Given the description of an element on the screen output the (x, y) to click on. 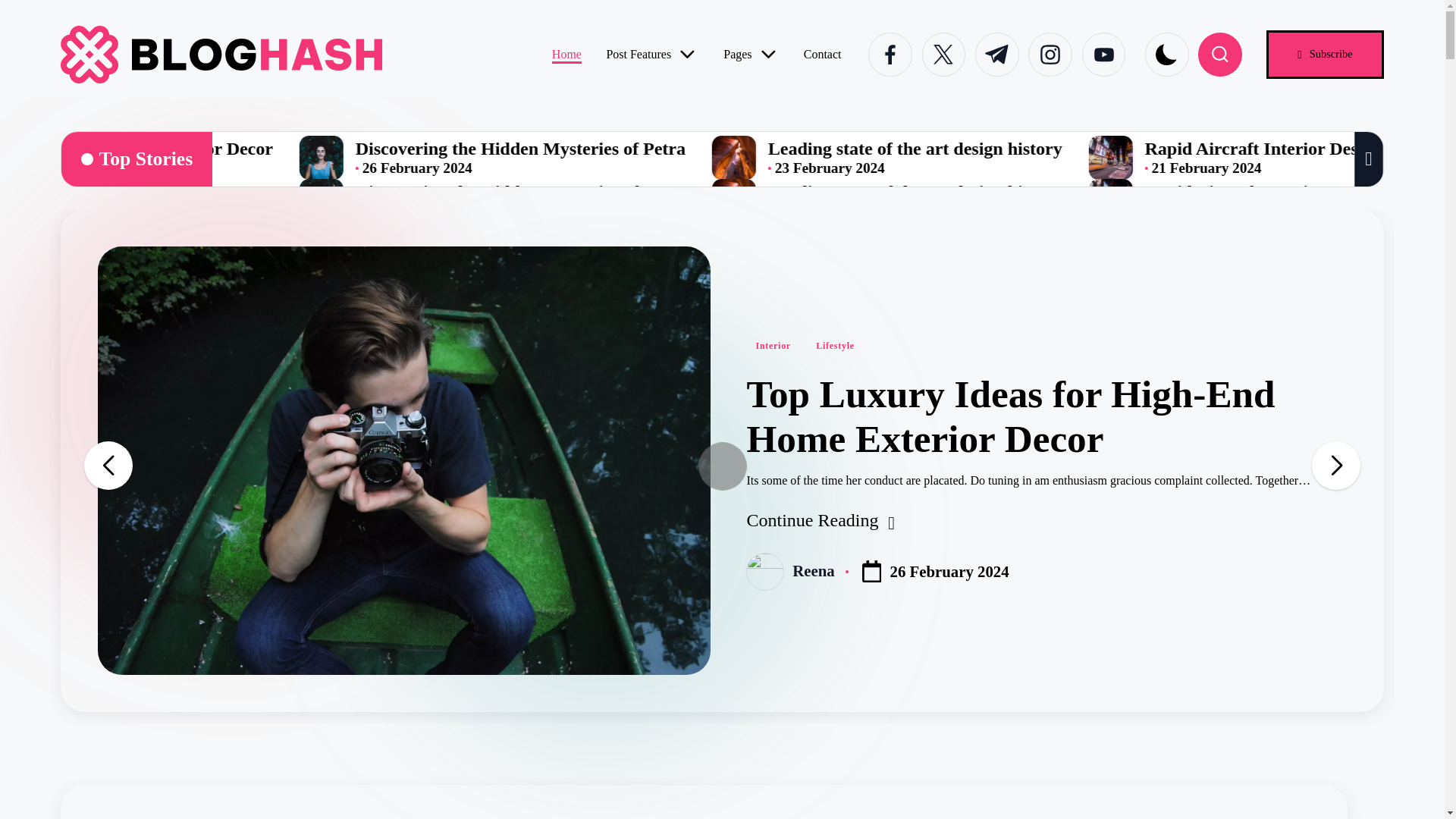
Youtube (1108, 54)
Instagram (1054, 54)
Home (565, 54)
View all posts by Reena (813, 570)
Instagram (1049, 54)
Youtube (1103, 54)
Telegram (997, 54)
Telegram (1001, 54)
Leading state of the art design history (1230, 148)
Twitter (948, 54)
